Given the description of an element on the screen output the (x, y) to click on. 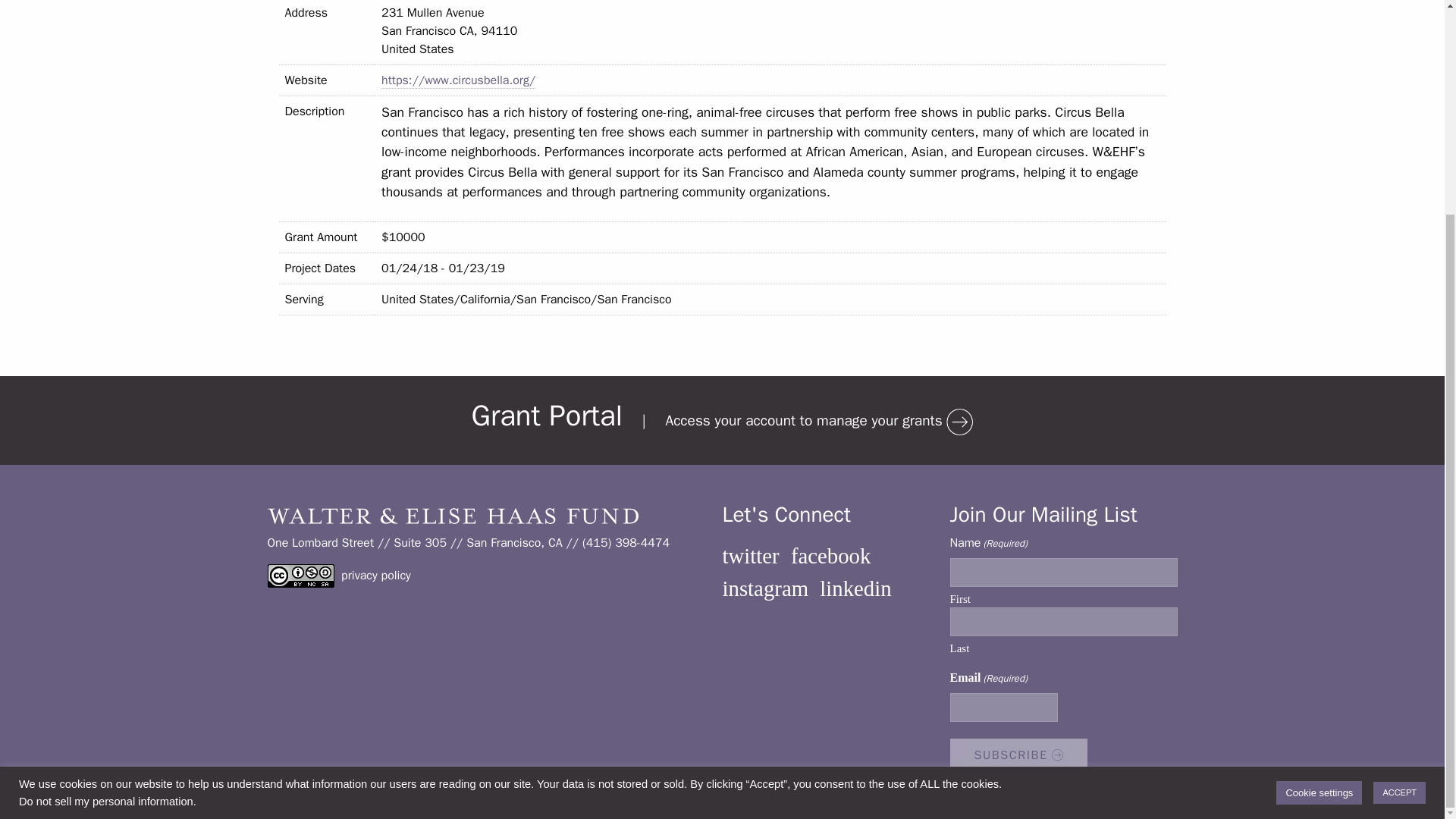
facebook (830, 555)
SUBSCRIBE (1017, 754)
twitter (750, 555)
privacy policy (375, 575)
Do not sell my personal information (105, 520)
instagram (765, 588)
linkedin (855, 588)
Cookie settings (1318, 511)
ACCEPT (1399, 511)
